Given the description of an element on the screen output the (x, y) to click on. 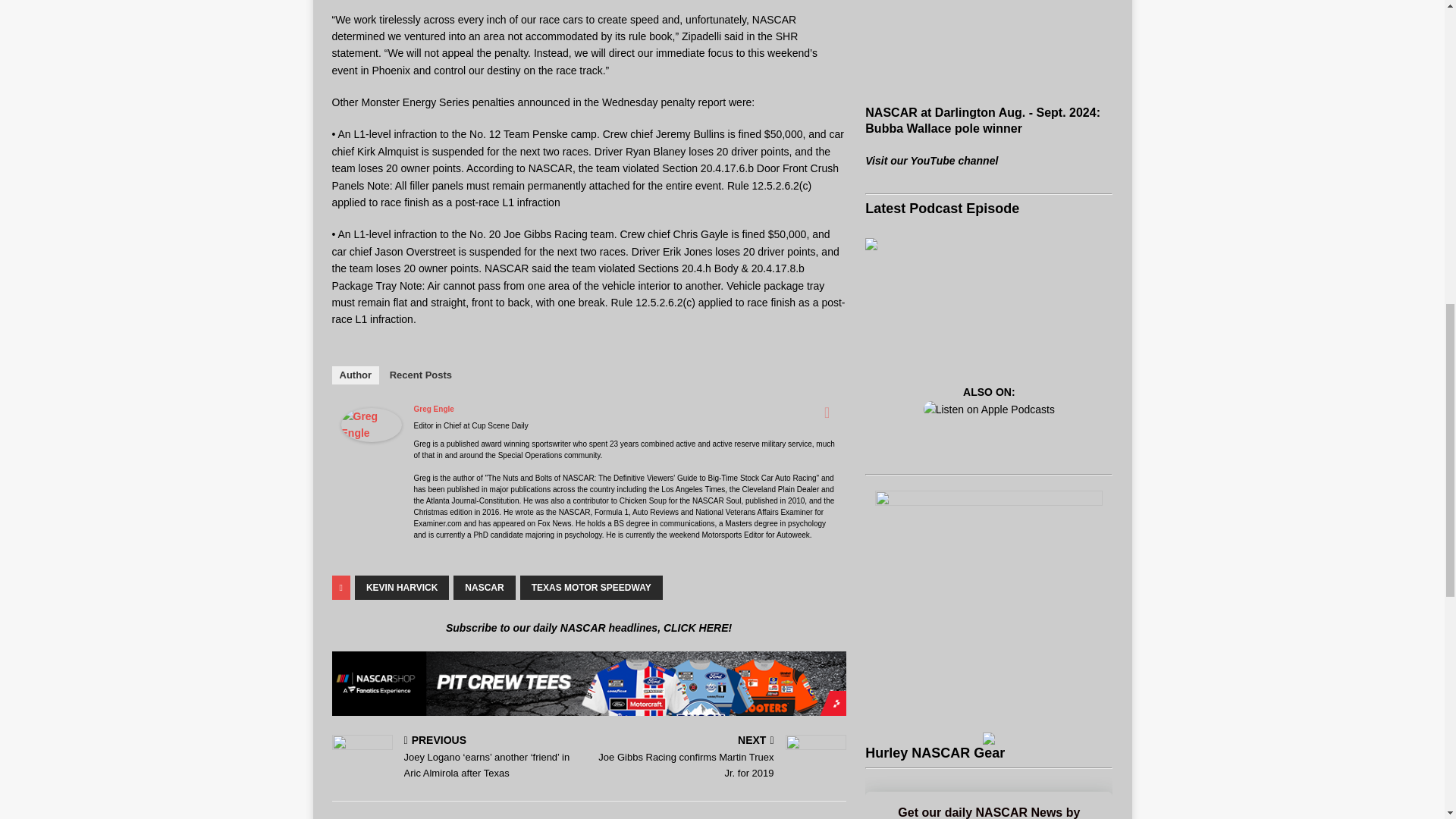
Twitter (826, 412)
Author (355, 375)
Recent Posts (420, 375)
Greg Engle (370, 432)
